Given the description of an element on the screen output the (x, y) to click on. 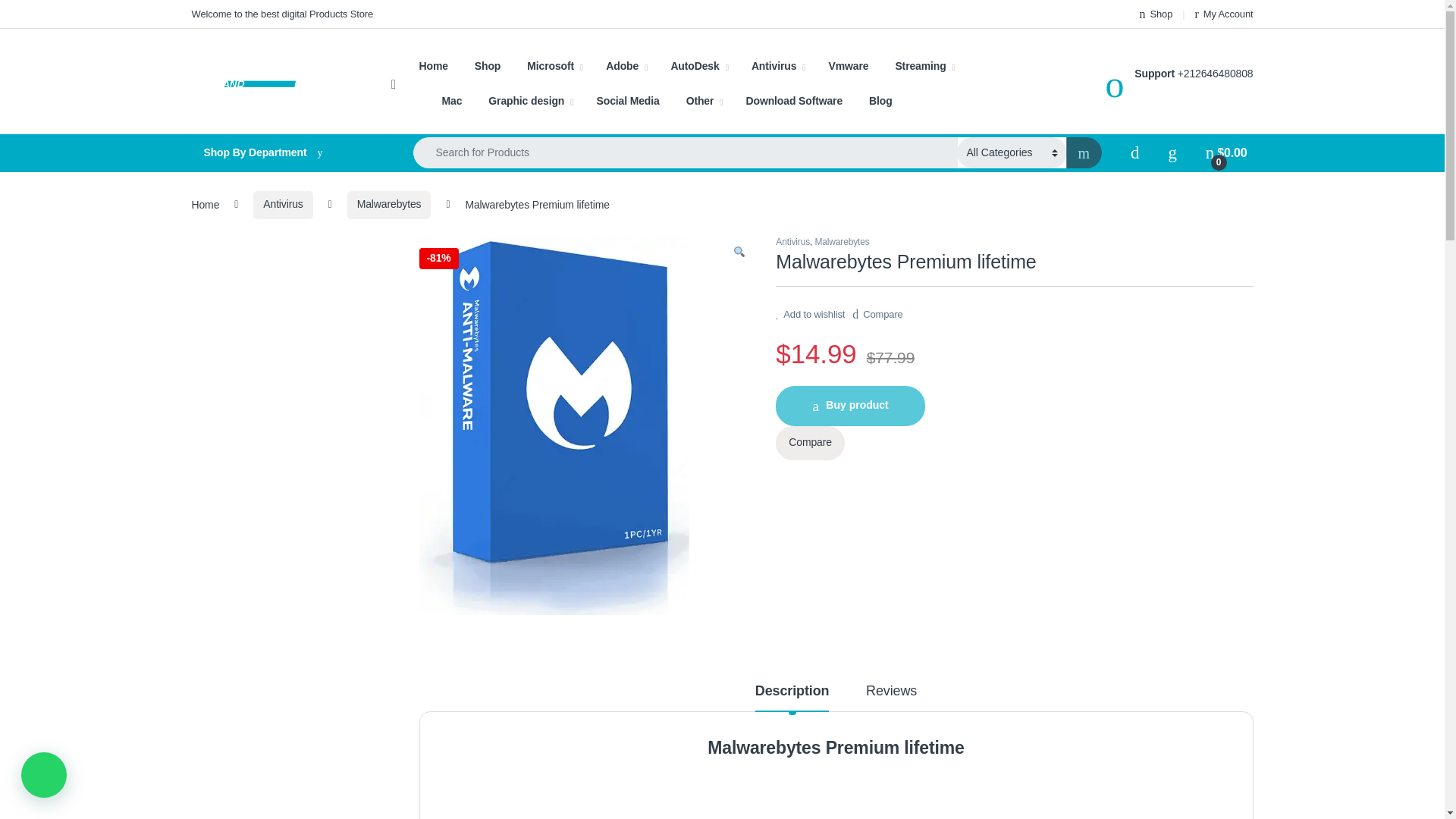
Welcome to the best digital Products Store (281, 13)
Shop (1156, 13)
My Account (1224, 13)
Welcome to the best digital Products Store (281, 13)
My Account (1224, 13)
Shop (1156, 13)
